Given the description of an element on the screen output the (x, y) to click on. 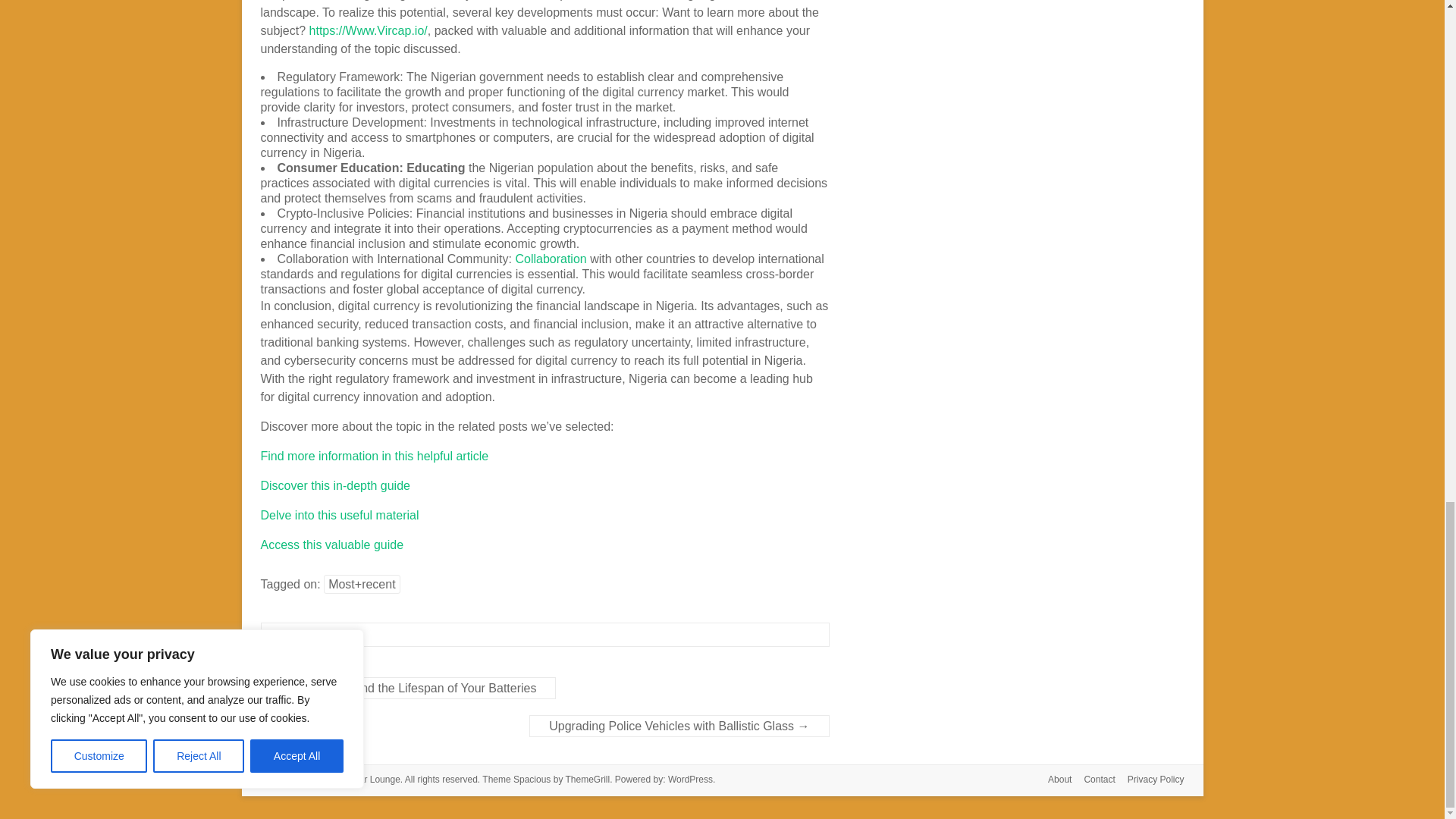
Discover this in-depth guide (335, 485)
WordPress (690, 778)
Delve into this useful material (339, 514)
Collaboration (550, 258)
Spacious (531, 778)
General (301, 634)
Access this valuable guide (332, 544)
Star Bar Lounge (365, 778)
Find more information in this helpful article (374, 455)
